Given the description of an element on the screen output the (x, y) to click on. 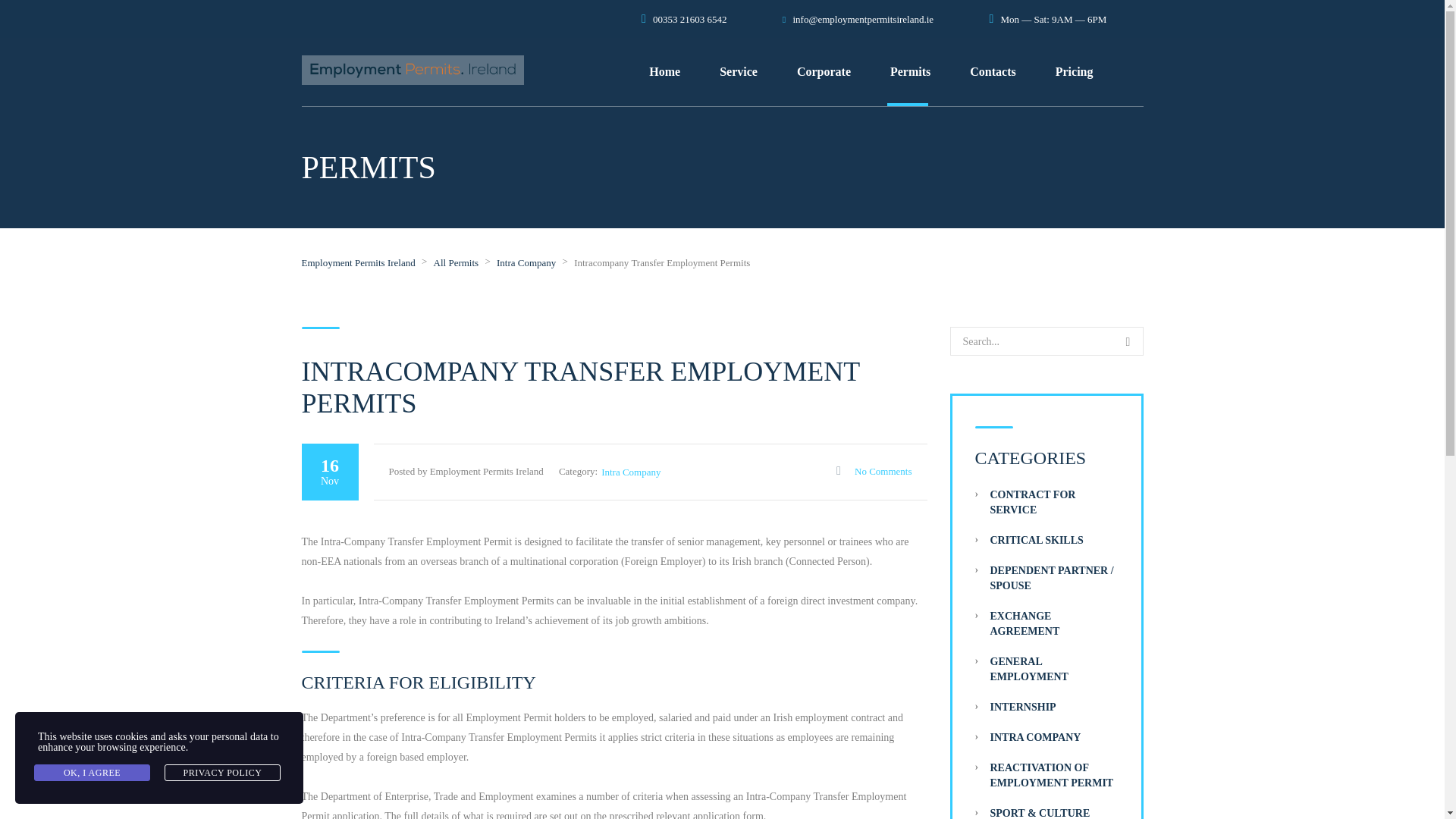
Intra Company (631, 471)
Go to the Intra Company Category archives. (526, 262)
Go to All Permits. (456, 262)
Intra Company (526, 262)
All Permits (456, 262)
Employment Permits Ireland (357, 262)
00353 21603 6542 (689, 19)
Go to Employment Permits Ireland. (357, 262)
